Given the description of an element on the screen output the (x, y) to click on. 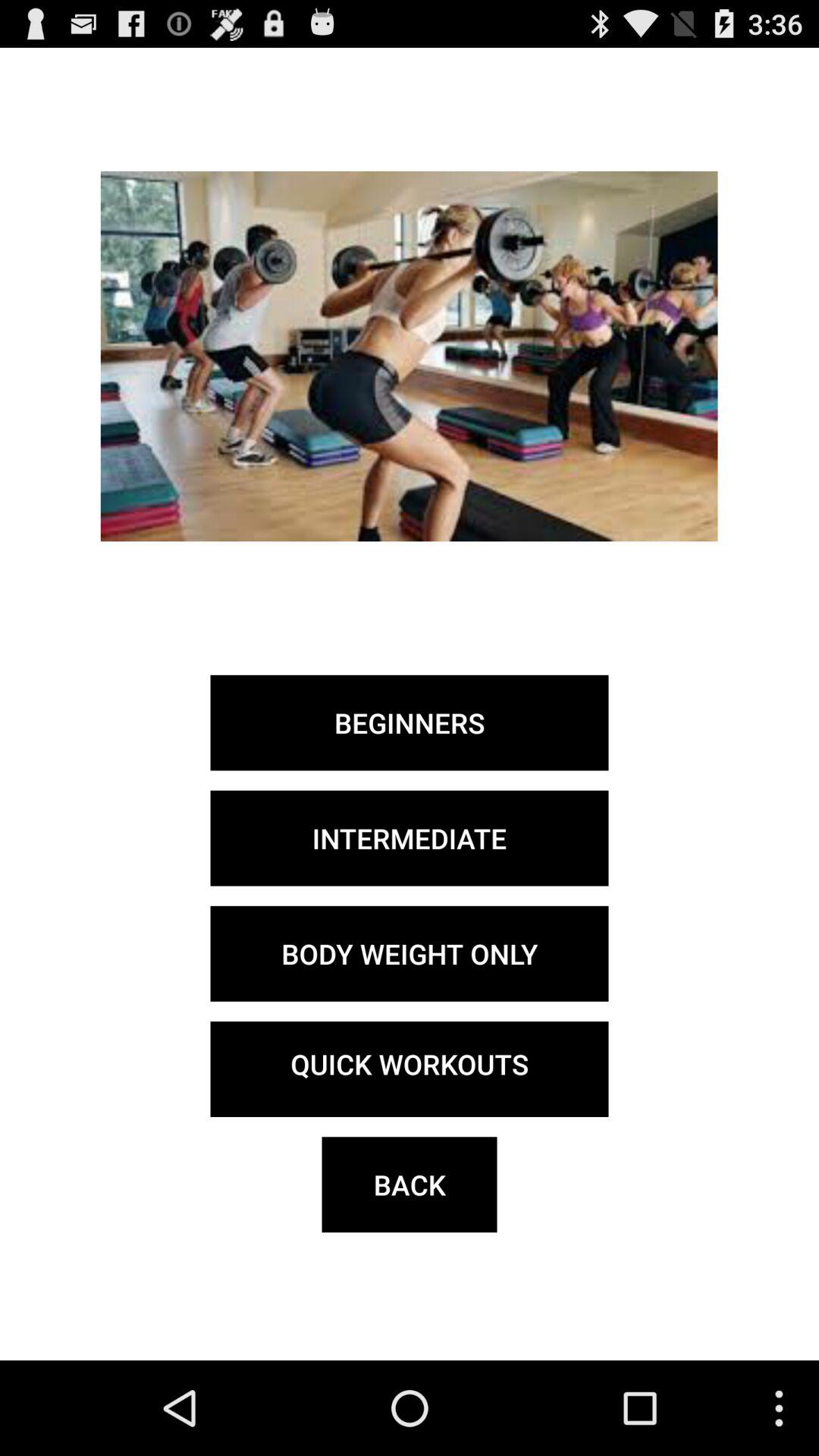
choose the icon below body weight only icon (409, 1069)
